Given the description of an element on the screen output the (x, y) to click on. 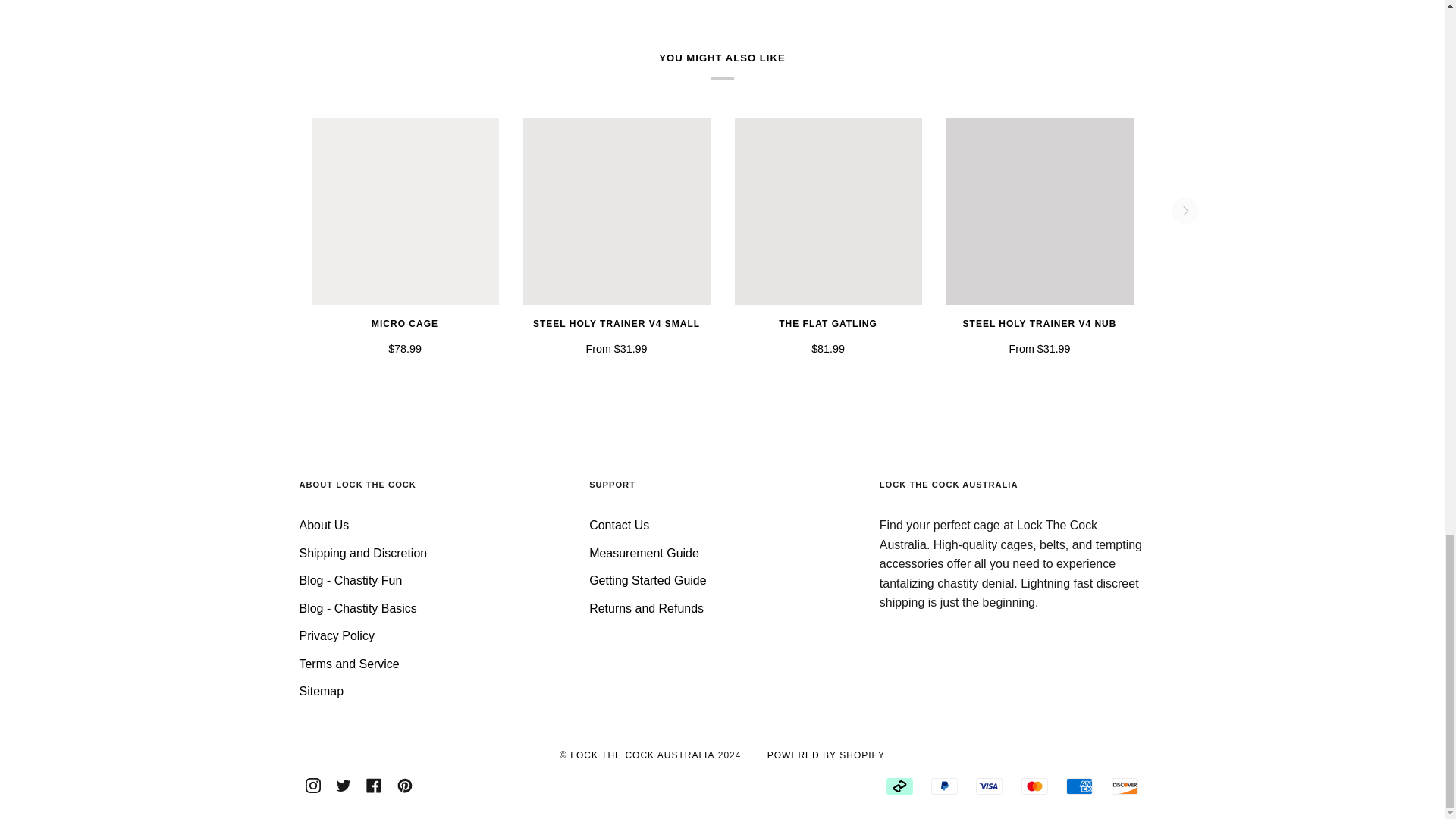
Facebook (373, 784)
Twitter (343, 784)
DISCOVER (1125, 786)
AFTERPAY (899, 786)
Instagram (312, 784)
AMERICAN EXPRESS (1079, 786)
MASTERCARD (1035, 786)
Pinterest (404, 784)
VISA (989, 786)
PAYPAL (944, 786)
